Given the description of an element on the screen output the (x, y) to click on. 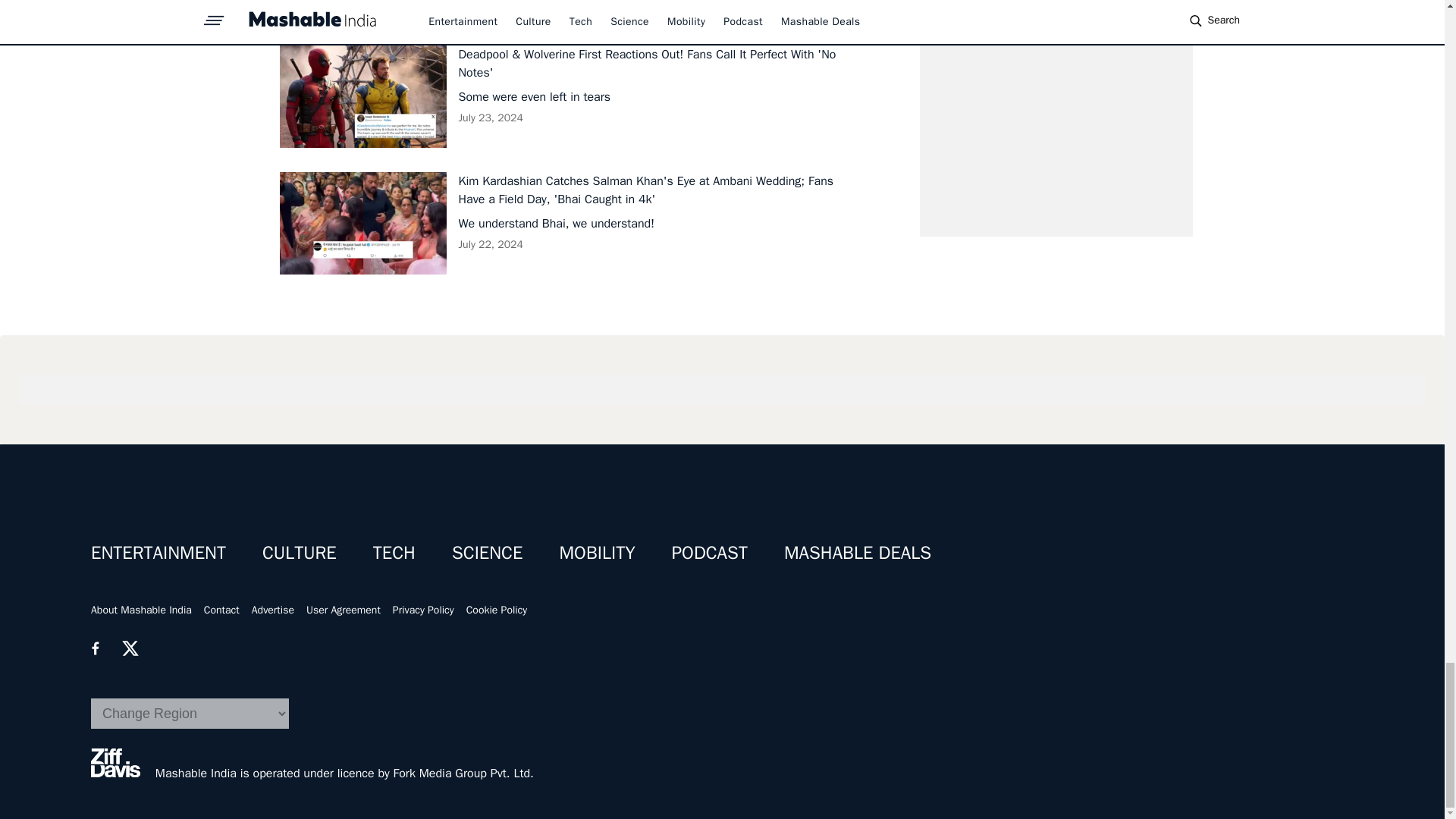
CULTURE (299, 552)
ENTERTAINMENT (157, 552)
